Given the description of an element on the screen output the (x, y) to click on. 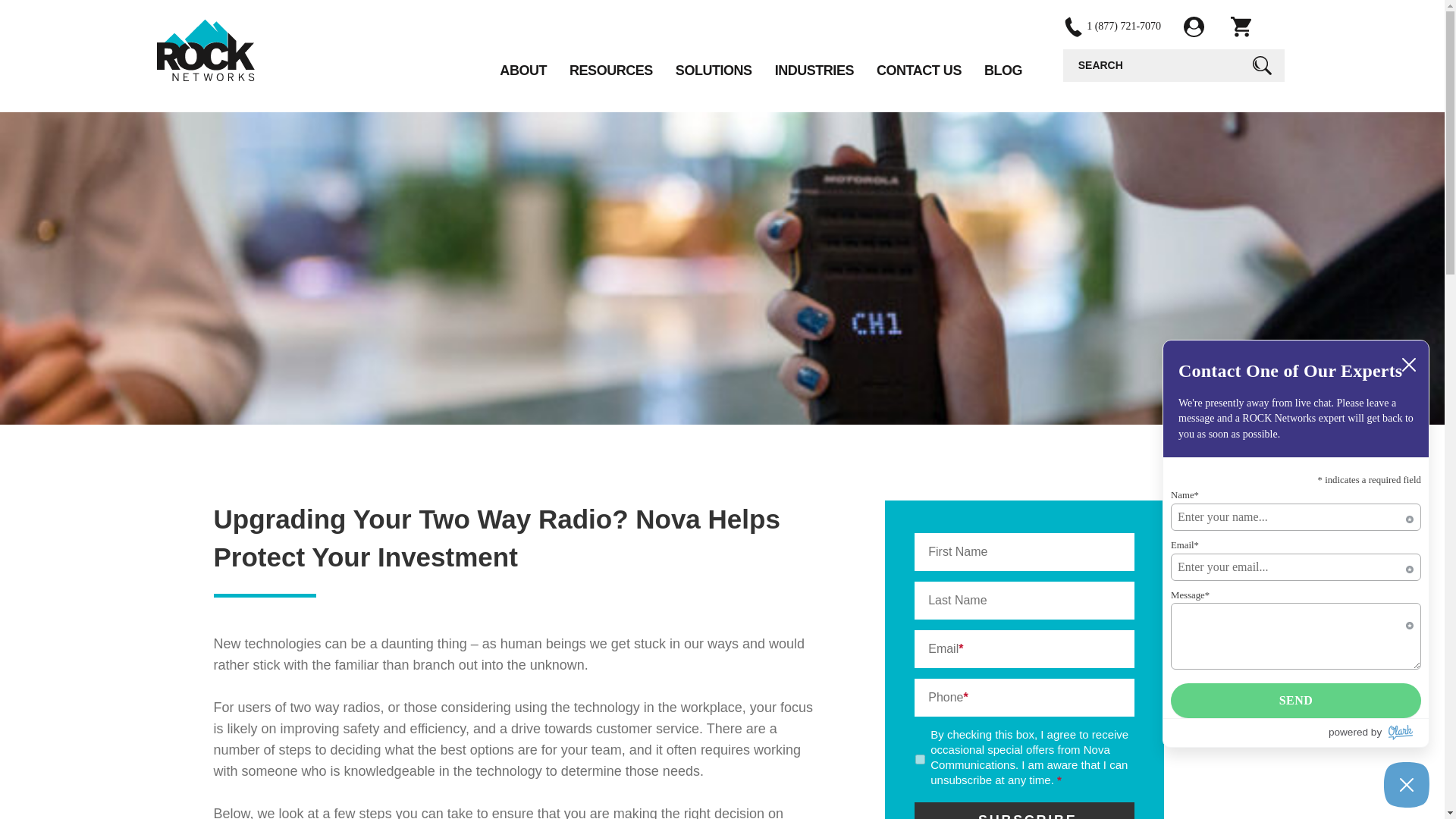
ABOUT (523, 70)
Required field (1409, 623)
BLOG (1003, 70)
CONTACT US (918, 70)
ROCK Networks (204, 48)
Olark Logo (1401, 732)
Subscribe (1024, 810)
INDUSTRIES (813, 70)
RESOURCES (610, 70)
SOLUTIONS (713, 70)
Required field (1409, 516)
Required field (1409, 566)
Search (1261, 65)
